Given the description of an element on the screen output the (x, y) to click on. 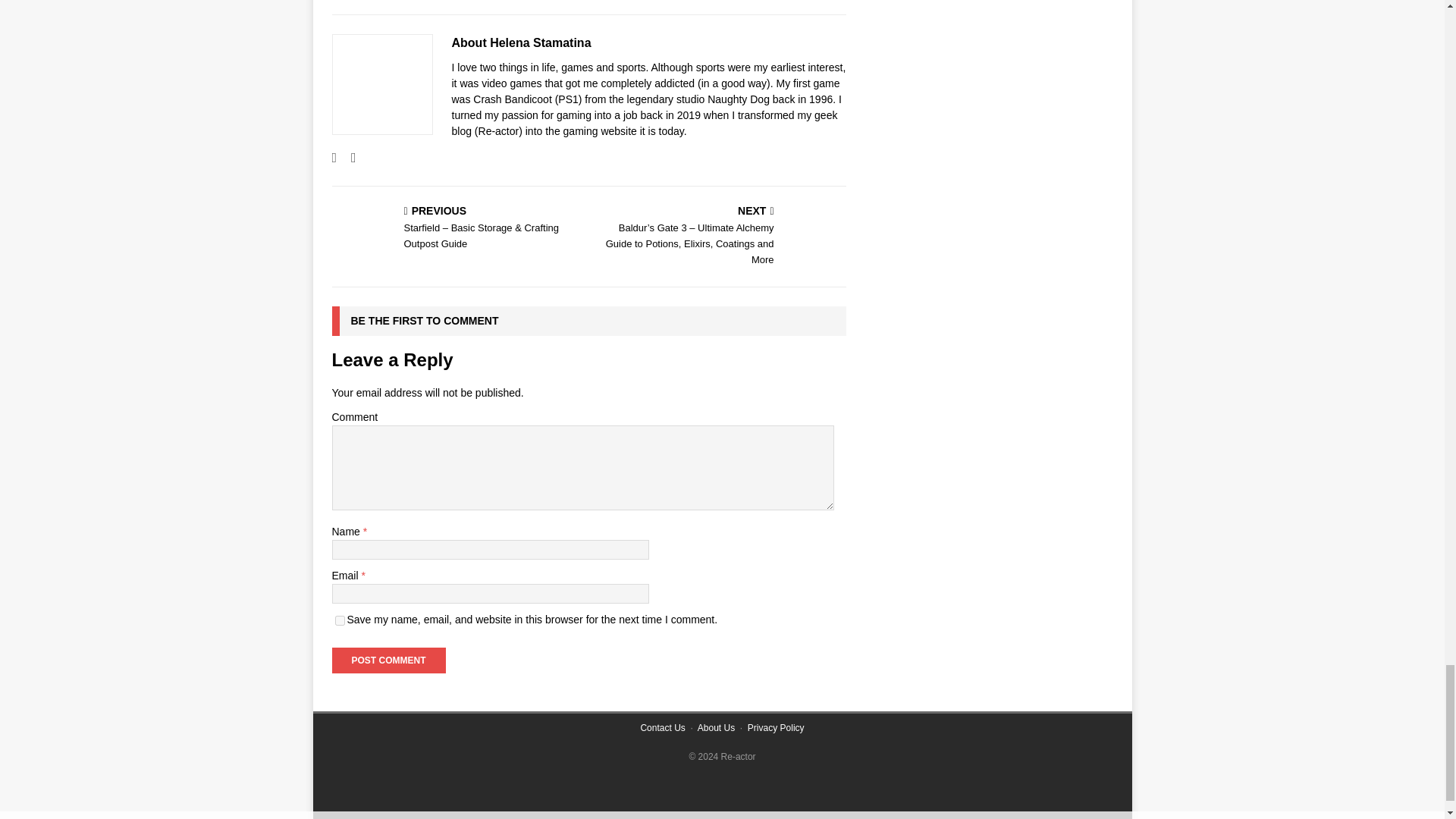
Contact Us (662, 727)
About Us (716, 727)
Post Comment (388, 660)
yes (339, 620)
Privacy Policy (776, 727)
Post Comment (388, 660)
Follow Helena Stamatina on Twitter (347, 157)
